Given the description of an element on the screen output the (x, y) to click on. 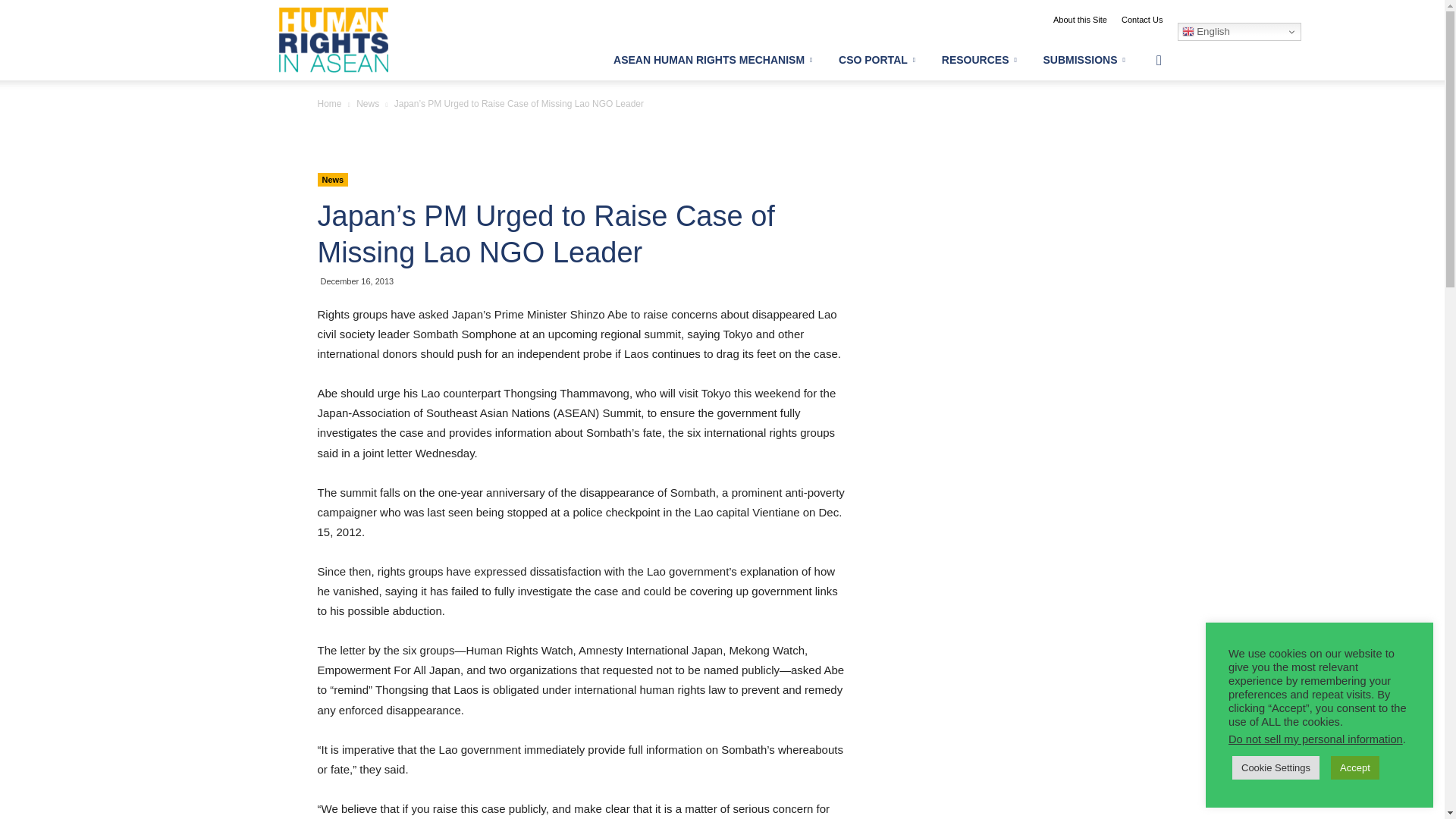
View all posts in News (367, 103)
